Given the description of an element on the screen output the (x, y) to click on. 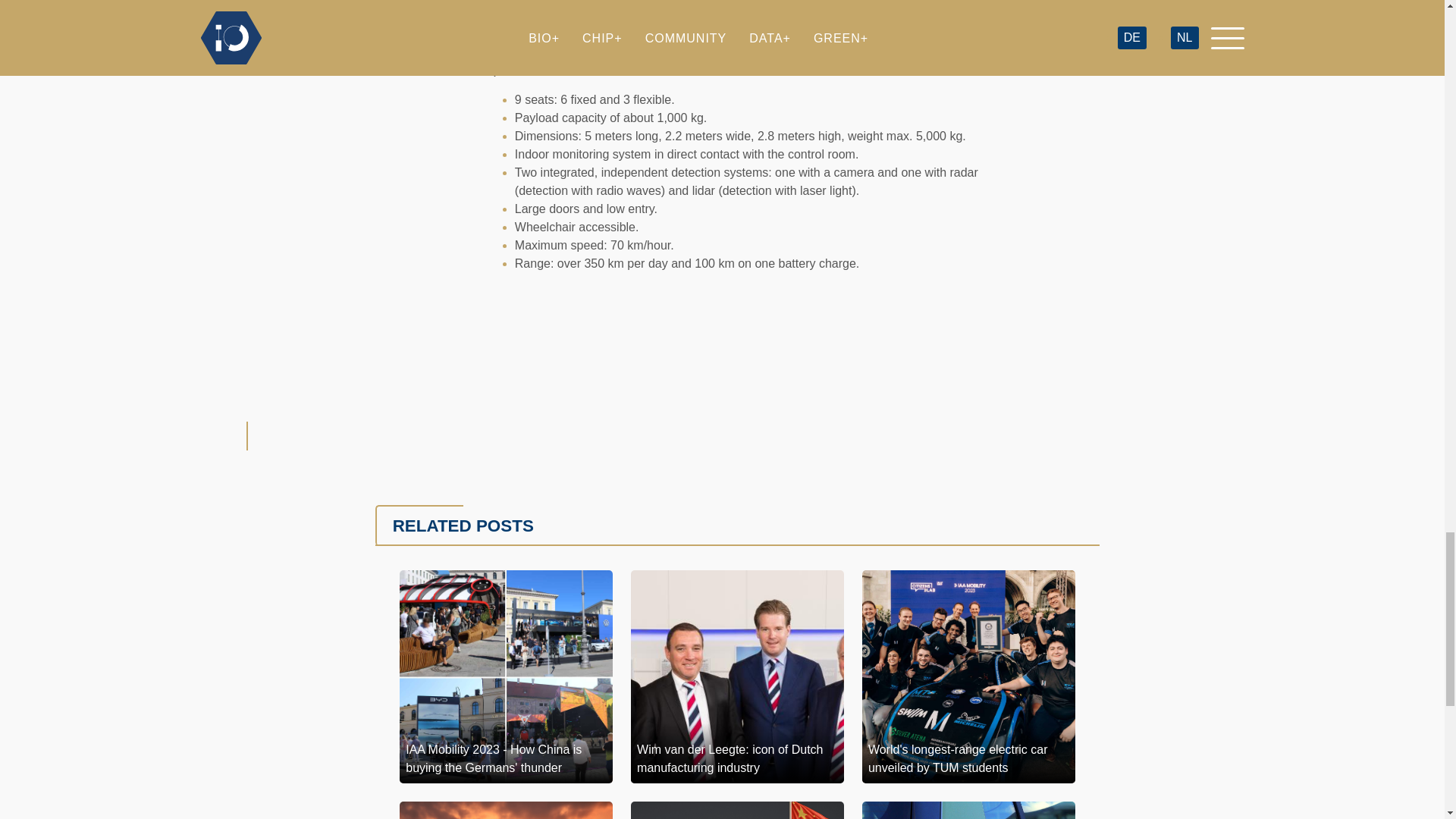
World's longest-range electric car unveiled by TUM students (968, 676)
IAA Mobility 2023 - How China is buying the Germans' thunder (505, 676)
Wim van der Leegte: icon of Dutch manufacturing industry (737, 676)
